Given the description of an element on the screen output the (x, y) to click on. 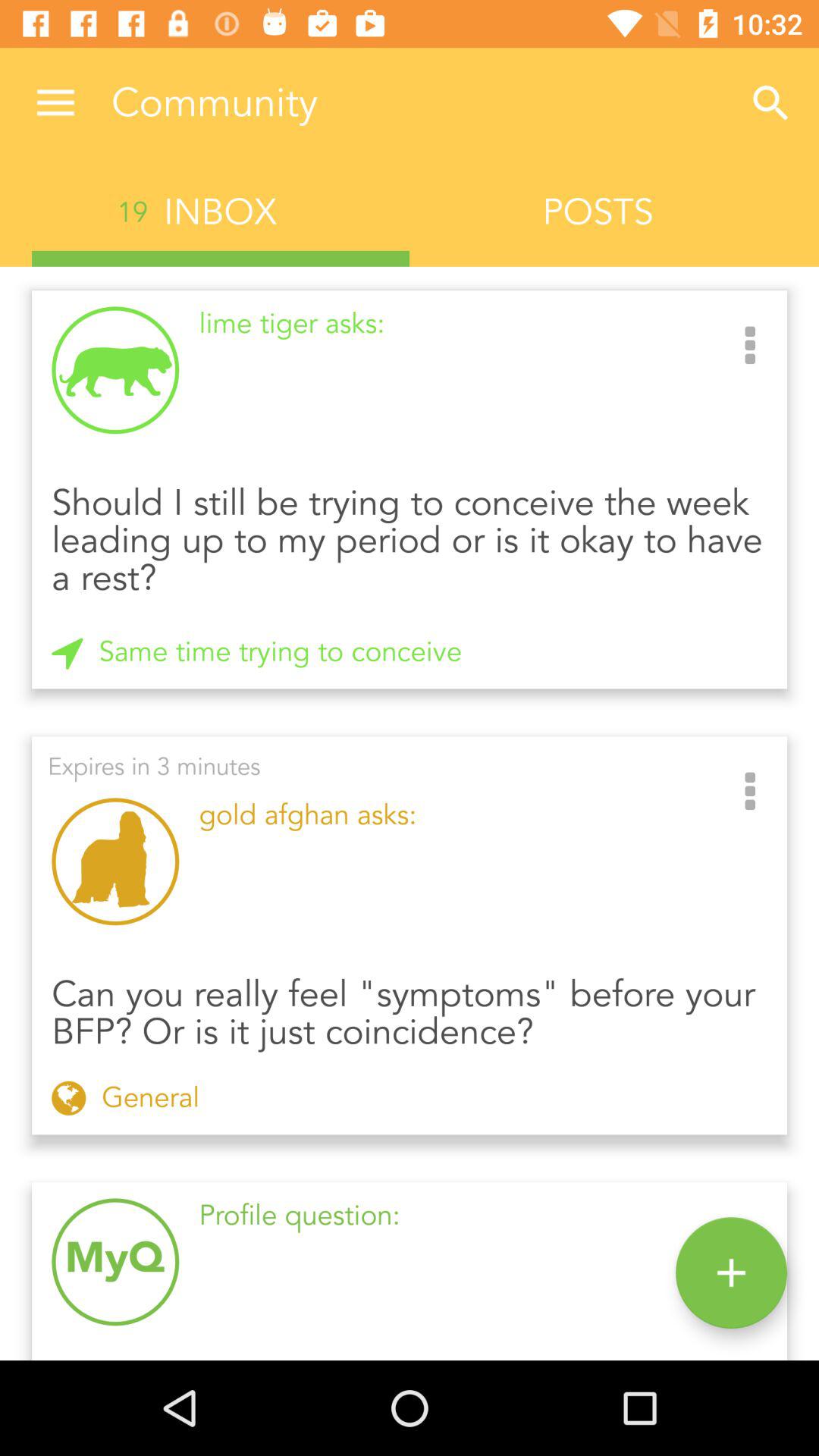
tap the item at the bottom right corner (731, 1272)
